Given the description of an element on the screen output the (x, y) to click on. 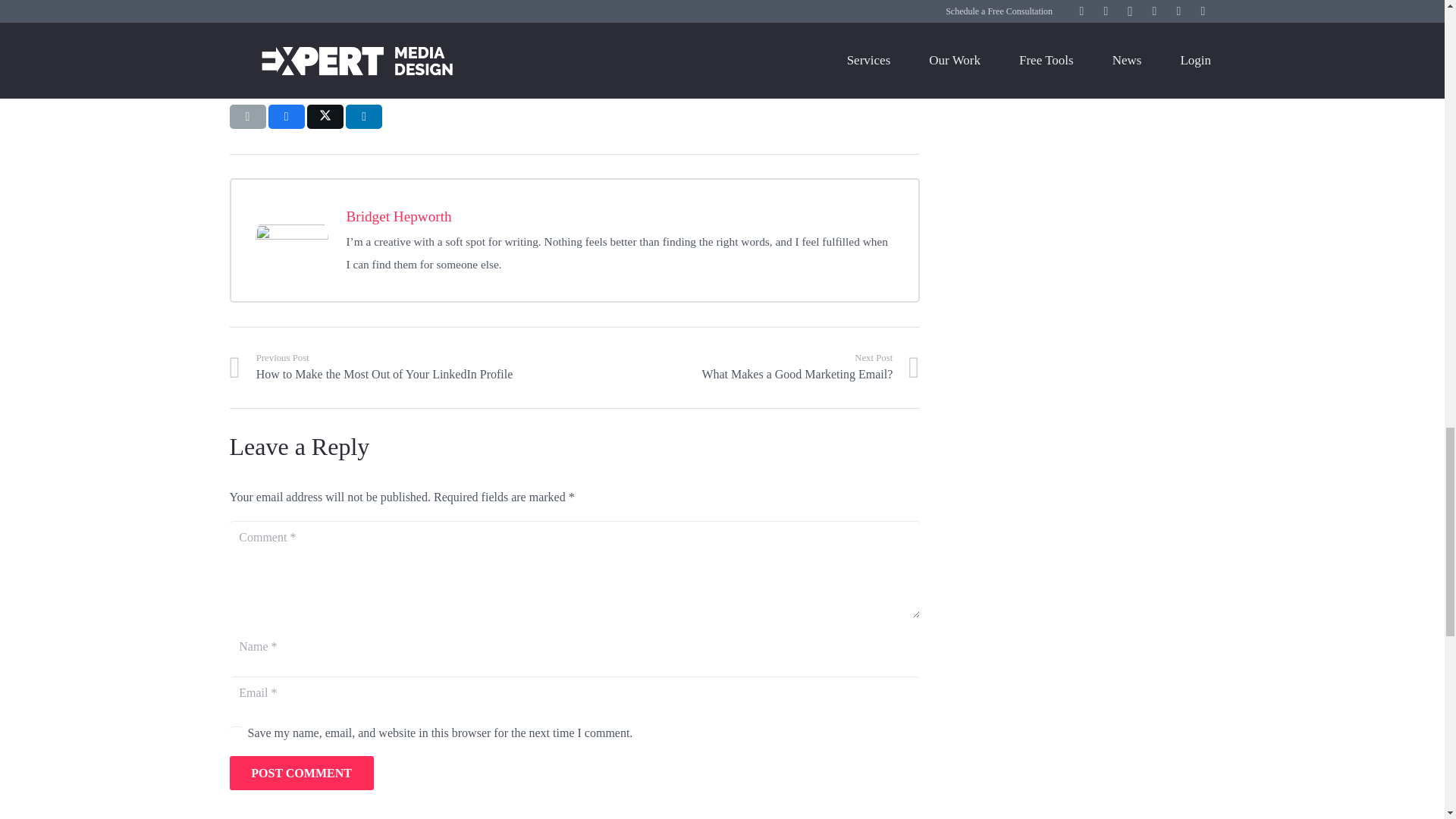
Bridget Hepworth (747, 367)
1 (619, 216)
Share this (235, 733)
POST COMMENT (363, 116)
What Makes a Good Marketing Email? (300, 772)
How to Make the Most Out of Your LinkedIn Profile (747, 367)
Share this (400, 367)
Email this (285, 116)
